Given the description of an element on the screen output the (x, y) to click on. 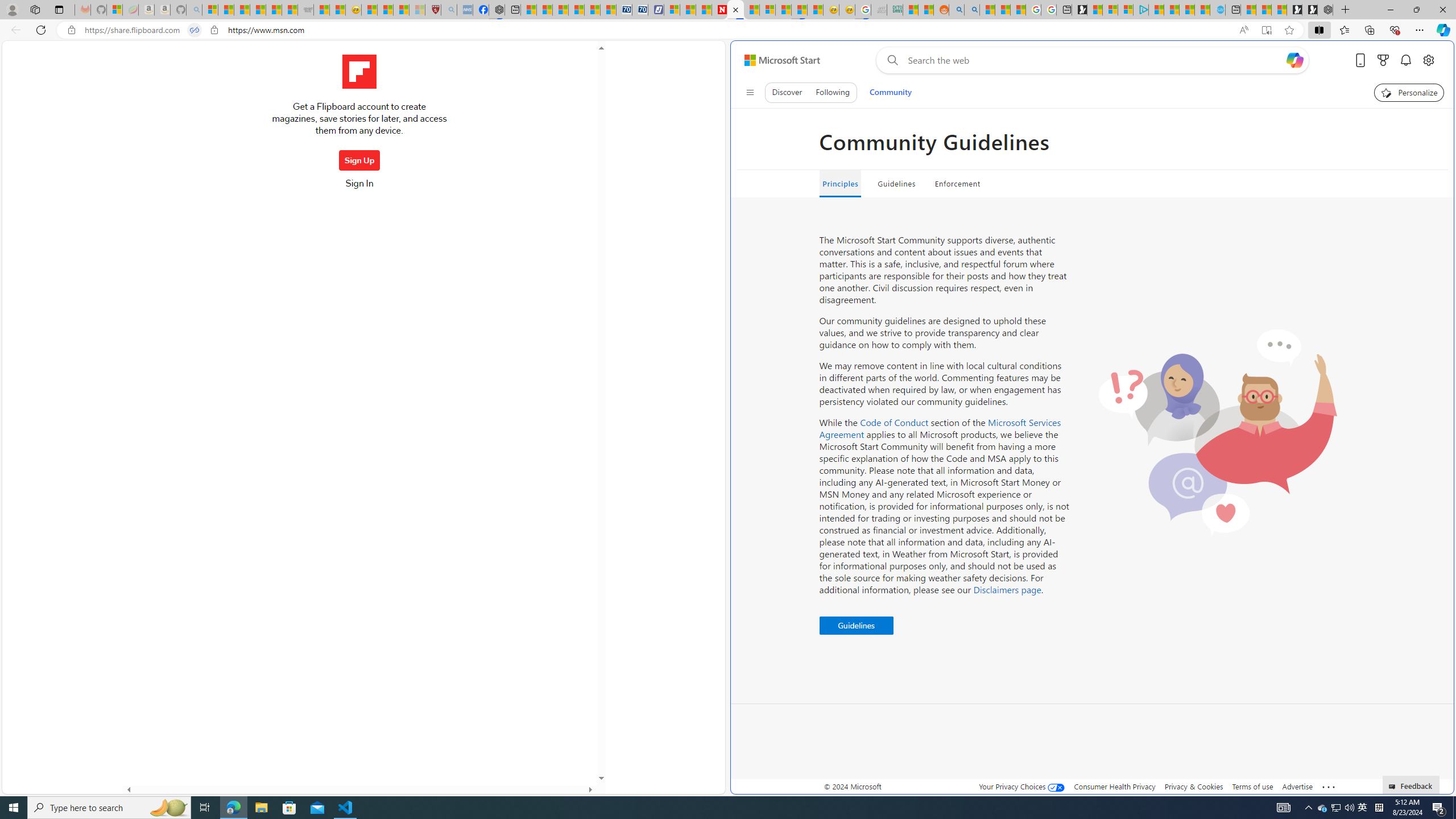
Microsoft rewards (1382, 60)
Nordace - Nordace Siena Is Not An Ordinary Backpack (1325, 9)
Principles (839, 183)
Robert H. Shmerling, MD - Harvard Health (432, 9)
14 Common Myths Debunked By Scientific Facts (751, 9)
Personalize your feed" (1409, 92)
Enter your search term (1094, 59)
Play Free Online Games | Games from Microsoft Start (1309, 9)
Newsweek - News, Analysis, Politics, Business, Technology (719, 9)
